Given the description of an element on the screen output the (x, y) to click on. 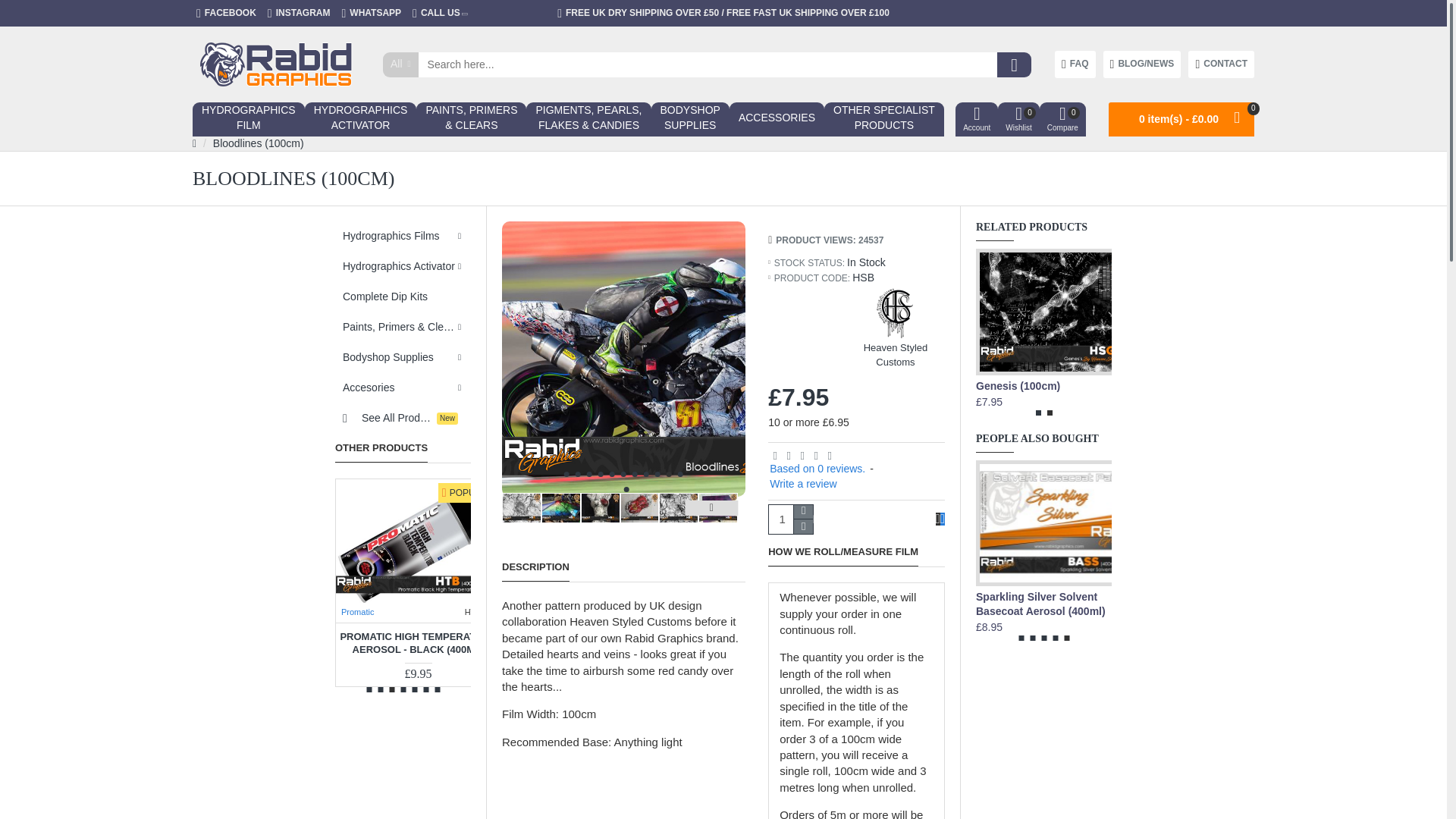
1 (790, 519)
INSTAGRAM (248, 119)
FAQ (298, 13)
CONTACT (1075, 63)
CALL US (1220, 63)
Rabid Graphics (440, 13)
FACEBOOK (275, 64)
WHATSAPP (226, 13)
